Given the description of an element on the screen output the (x, y) to click on. 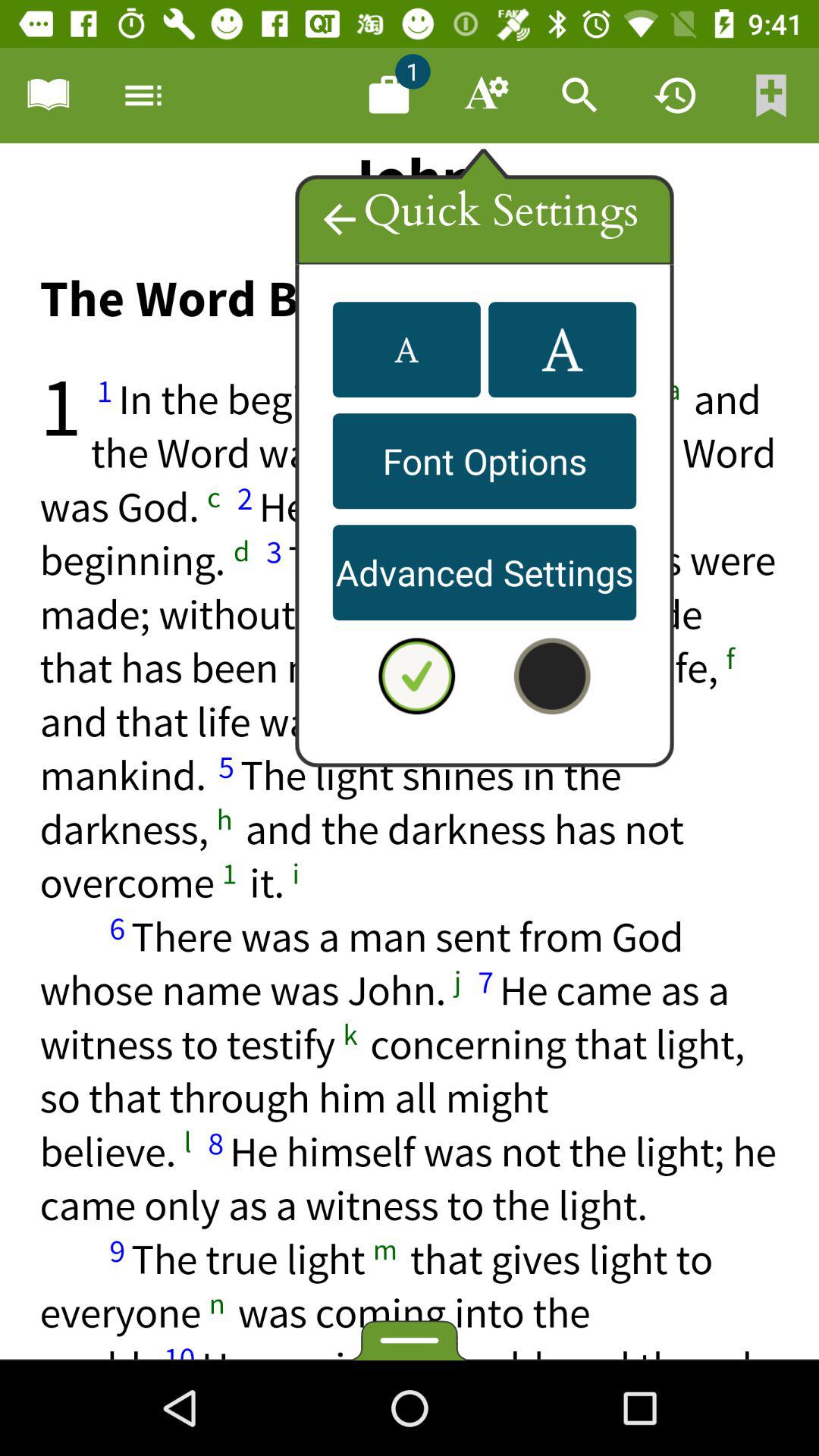
bigger font size button (562, 349)
